Given the description of an element on the screen output the (x, y) to click on. 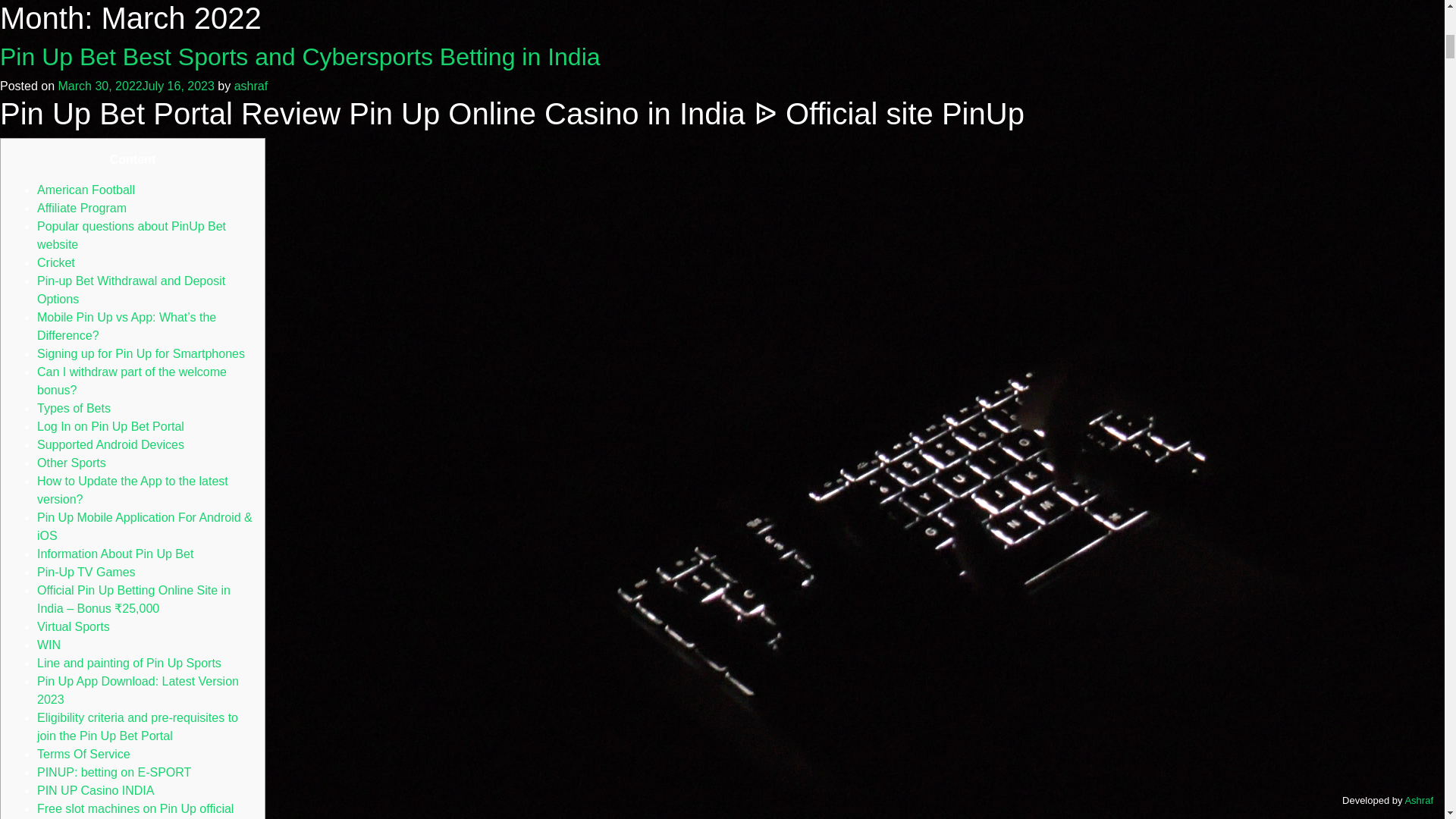
Types of Bets (73, 408)
WIN (49, 644)
Pin-Up TV Games (86, 571)
Other Sports (71, 462)
Virtual Sports (73, 626)
Pin-up Bet Withdrawal and Deposit Options (131, 289)
Pin Up App Download: Latest Version 2023 (137, 689)
American Football (86, 189)
PIN UP Casino INDIA (95, 789)
Popular questions about PinUp Bet website (131, 235)
Can I withdraw part of the welcome bonus? (132, 380)
ashraf (250, 85)
Affiliate Program (81, 207)
Log In on Pin Up Bet Portal (110, 426)
